Given the description of an element on the screen output the (x, y) to click on. 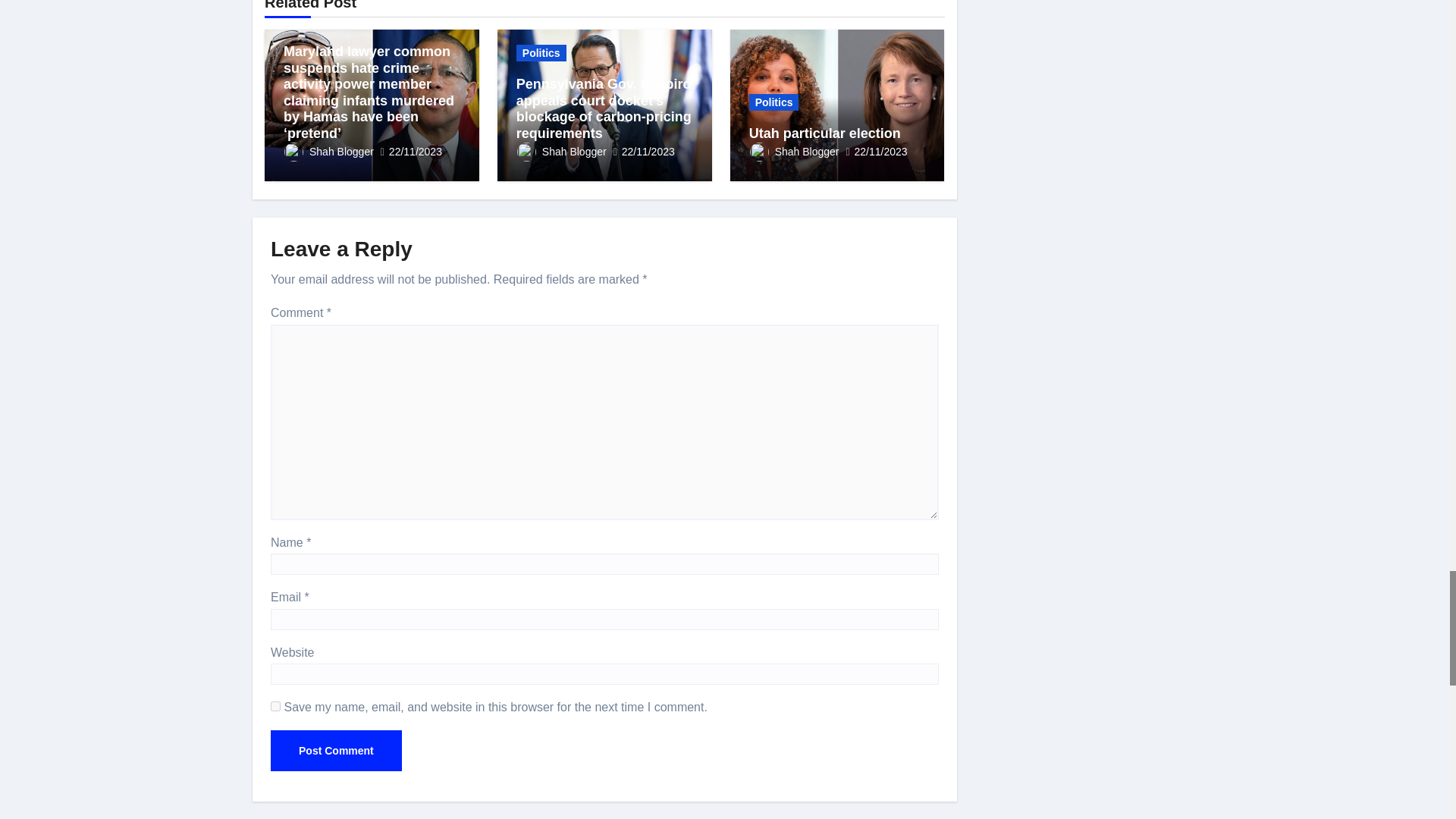
Permalink to: Utah particular election (825, 133)
Post Comment (335, 750)
yes (275, 706)
